Given the description of an element on the screen output the (x, y) to click on. 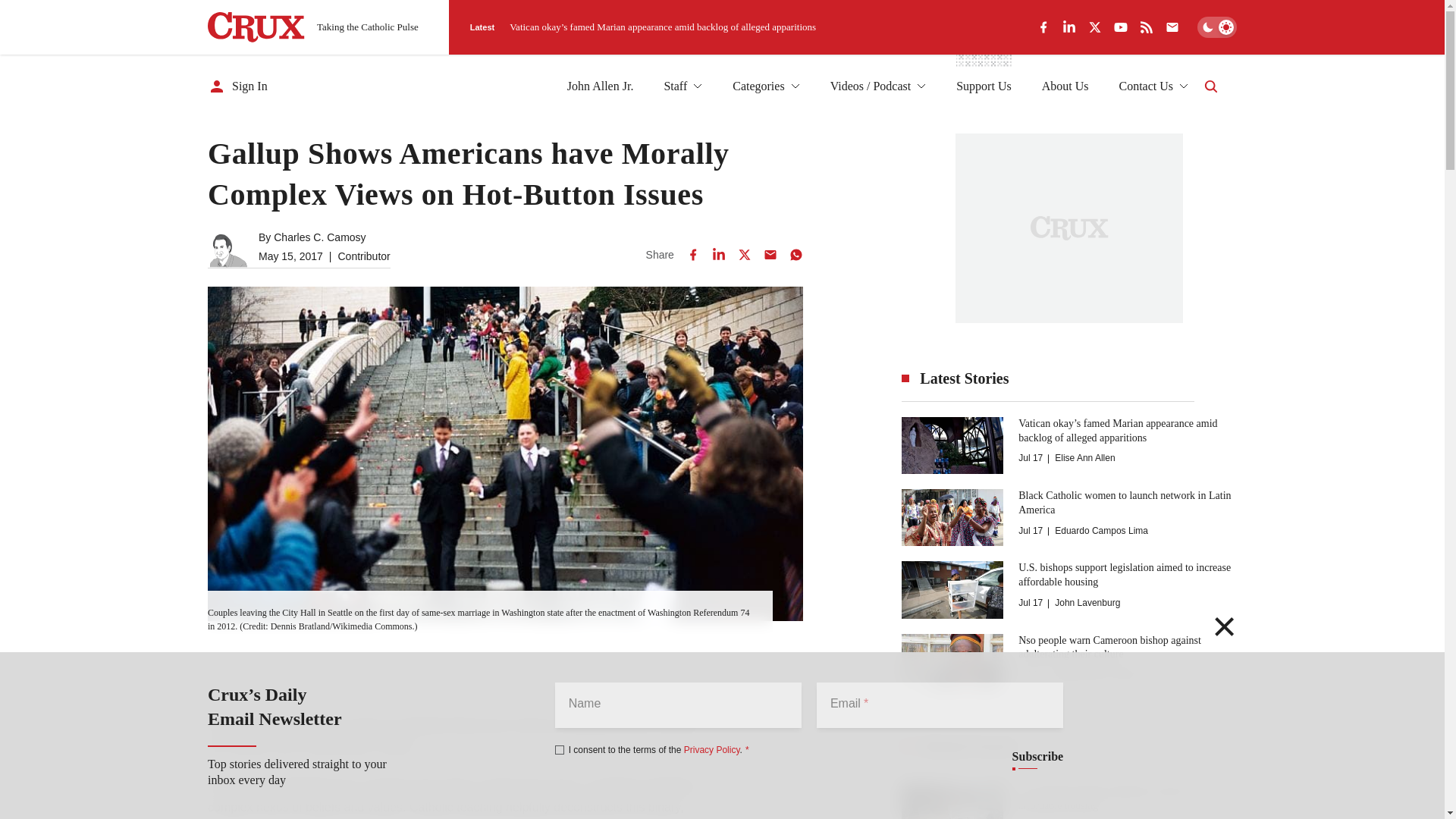
Support Us (983, 85)
John Allen Jr. (600, 85)
true (559, 749)
Subscribe (1037, 756)
Sign In (237, 85)
Staff (682, 85)
Categories (765, 85)
Privacy Policy (711, 749)
